Given the description of an element on the screen output the (x, y) to click on. 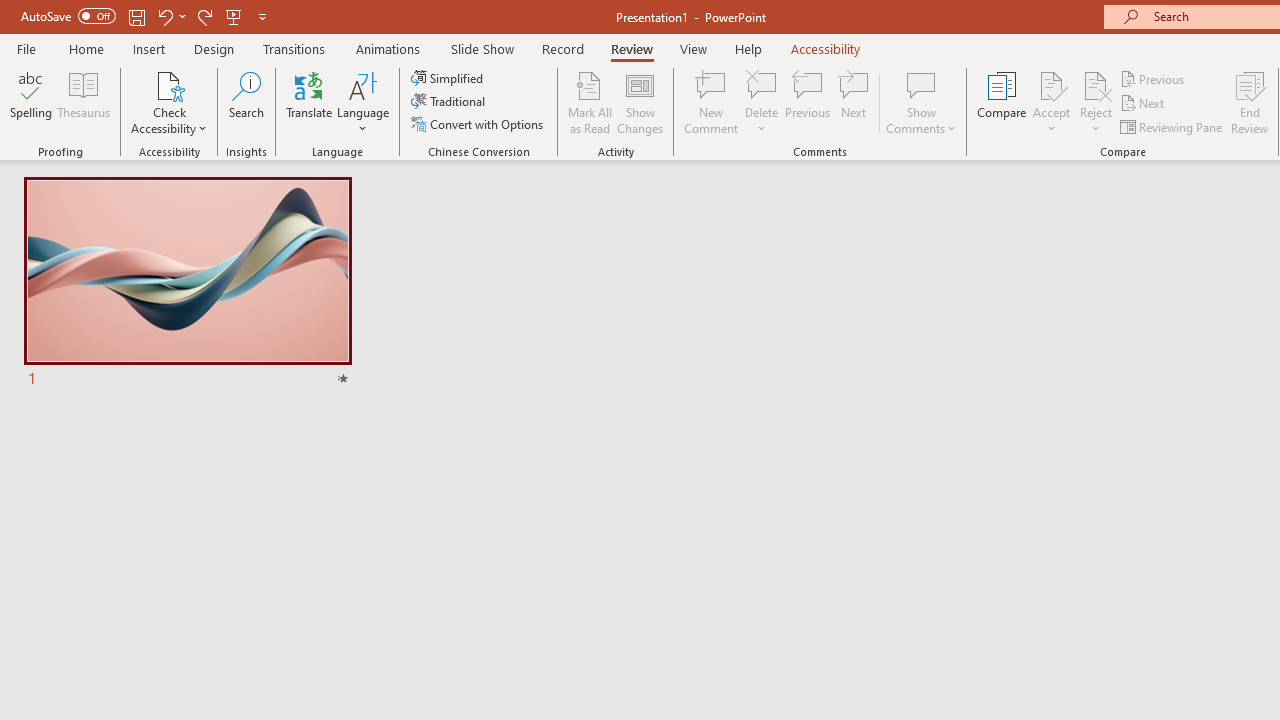
Reject Change (1096, 84)
Thesaurus... (83, 102)
Search (246, 102)
Delete (762, 102)
Check Accessibility (169, 102)
Previous (1153, 78)
Compare (1002, 102)
Show Changes (639, 102)
Language (363, 102)
